Given the description of an element on the screen output the (x, y) to click on. 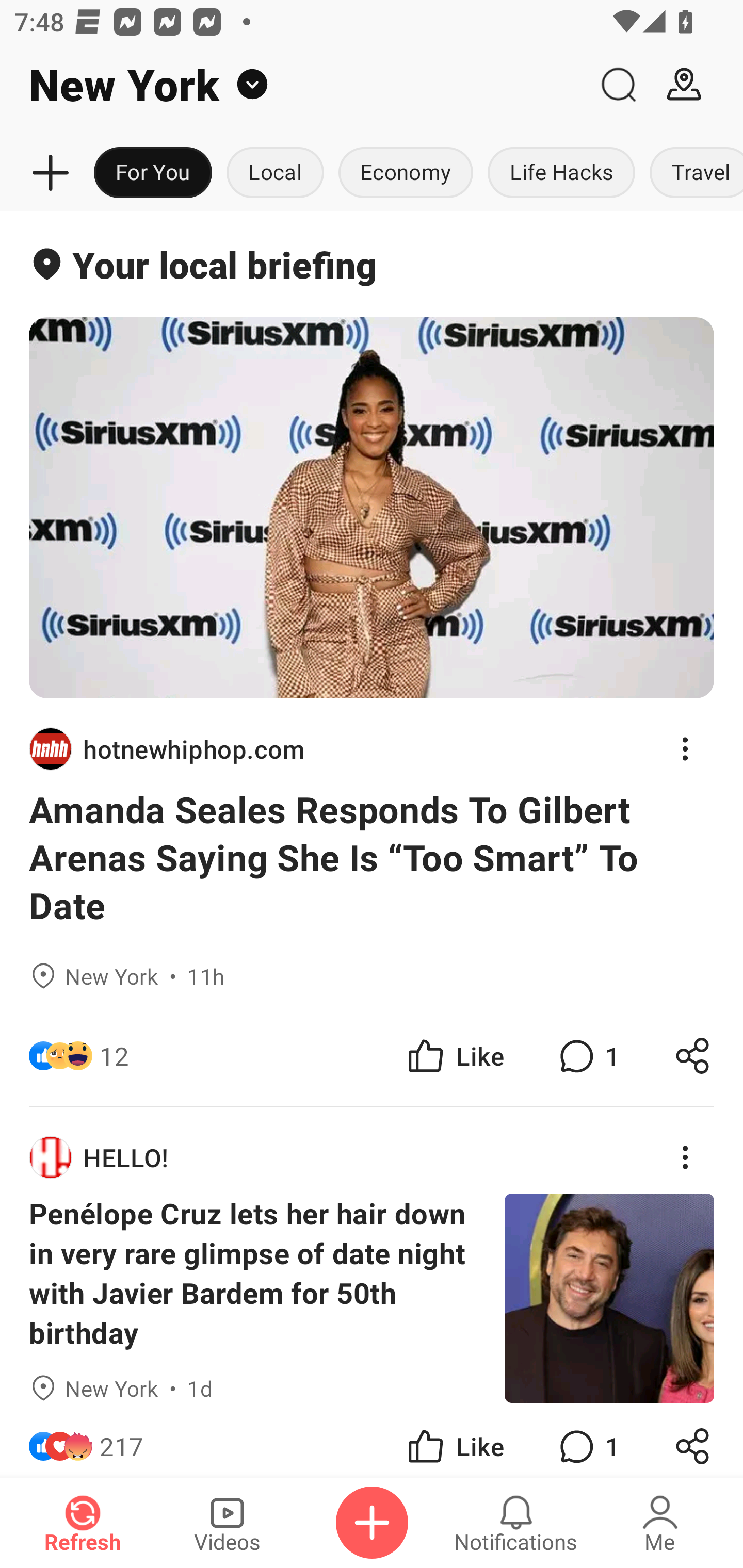
New York (292, 84)
For You (152, 172)
Local (275, 172)
Economy (405, 172)
Life Hacks (561, 172)
Travel (692, 172)
12 (114, 1055)
Like (454, 1055)
1 (587, 1055)
217 (121, 1440)
Like (454, 1440)
1 (587, 1440)
Videos (227, 1522)
Notifications (516, 1522)
Me (659, 1522)
